Given the description of an element on the screen output the (x, y) to click on. 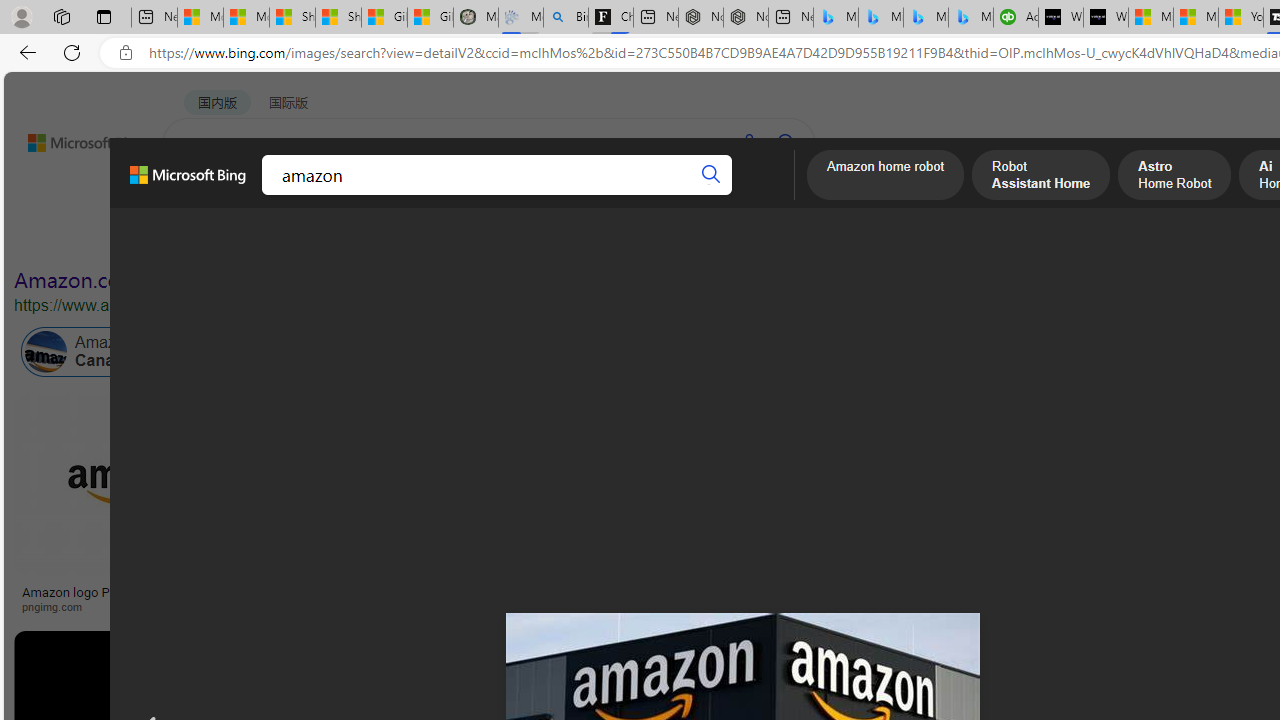
Type (372, 237)
Layout (443, 237)
Class: b_pri_nav_svg (336, 196)
Amazon India (893, 351)
Amazon India (850, 351)
Amazon Kids (464, 351)
Dropdown Menu (779, 195)
WEB (201, 195)
Listen: What's next for Amazon?usatoday.comSave (713, 508)
Amazon Labor Law Violation in California (993, 351)
MAPS (698, 195)
MAPS (698, 195)
Amazon Kids (422, 351)
